Given the description of an element on the screen output the (x, y) to click on. 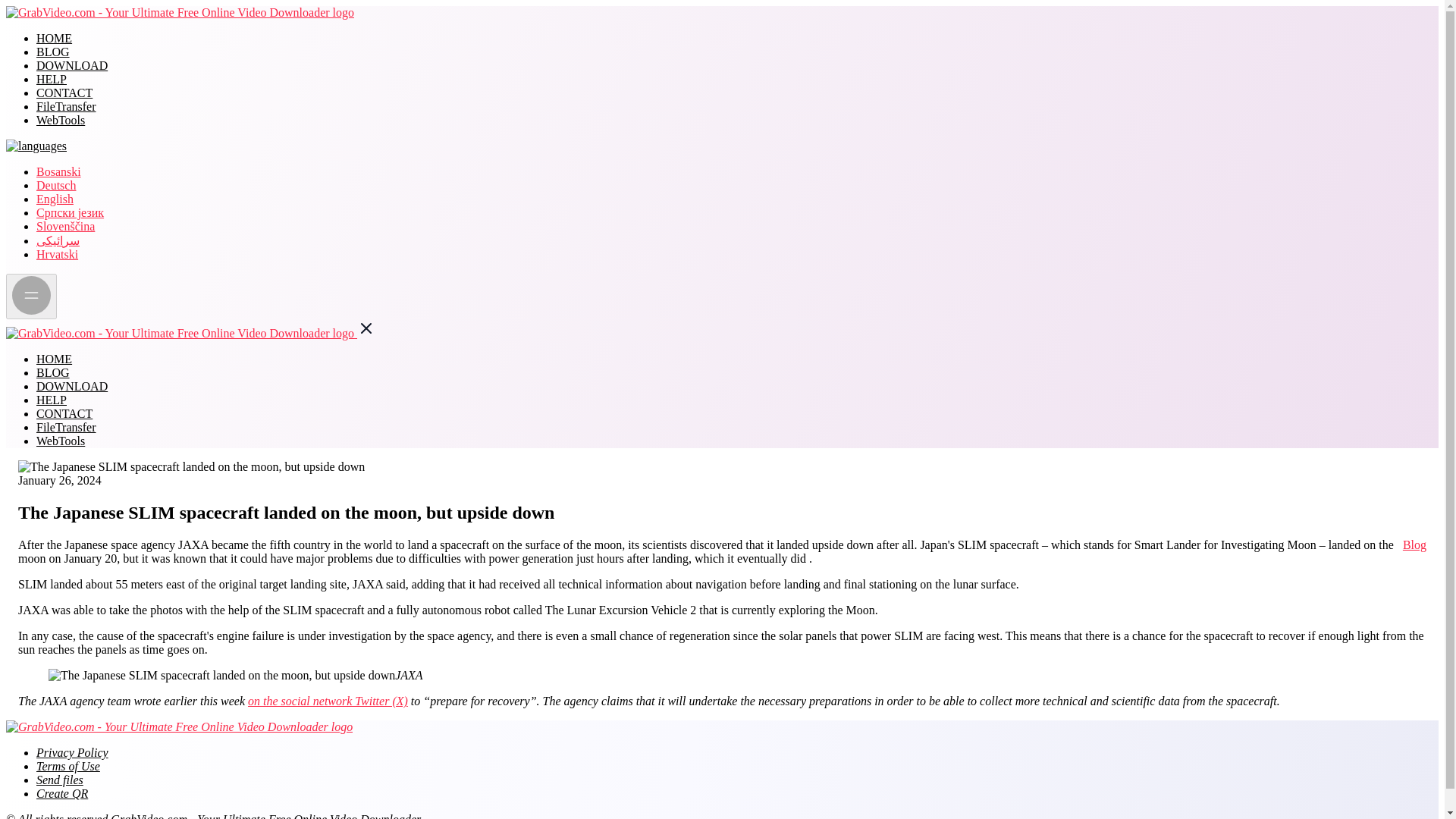
Bosanski (58, 171)
Send files (59, 779)
CONTACT (64, 92)
Blog (1414, 545)
BLOG (52, 372)
Privacy Policy (71, 752)
FileTransfer (66, 106)
FileTransfer (66, 427)
WebTools (60, 119)
Create QR (61, 793)
BLOG (52, 51)
Deutsch (55, 185)
HOME (53, 38)
English (55, 198)
HELP (51, 399)
